Given the description of an element on the screen output the (x, y) to click on. 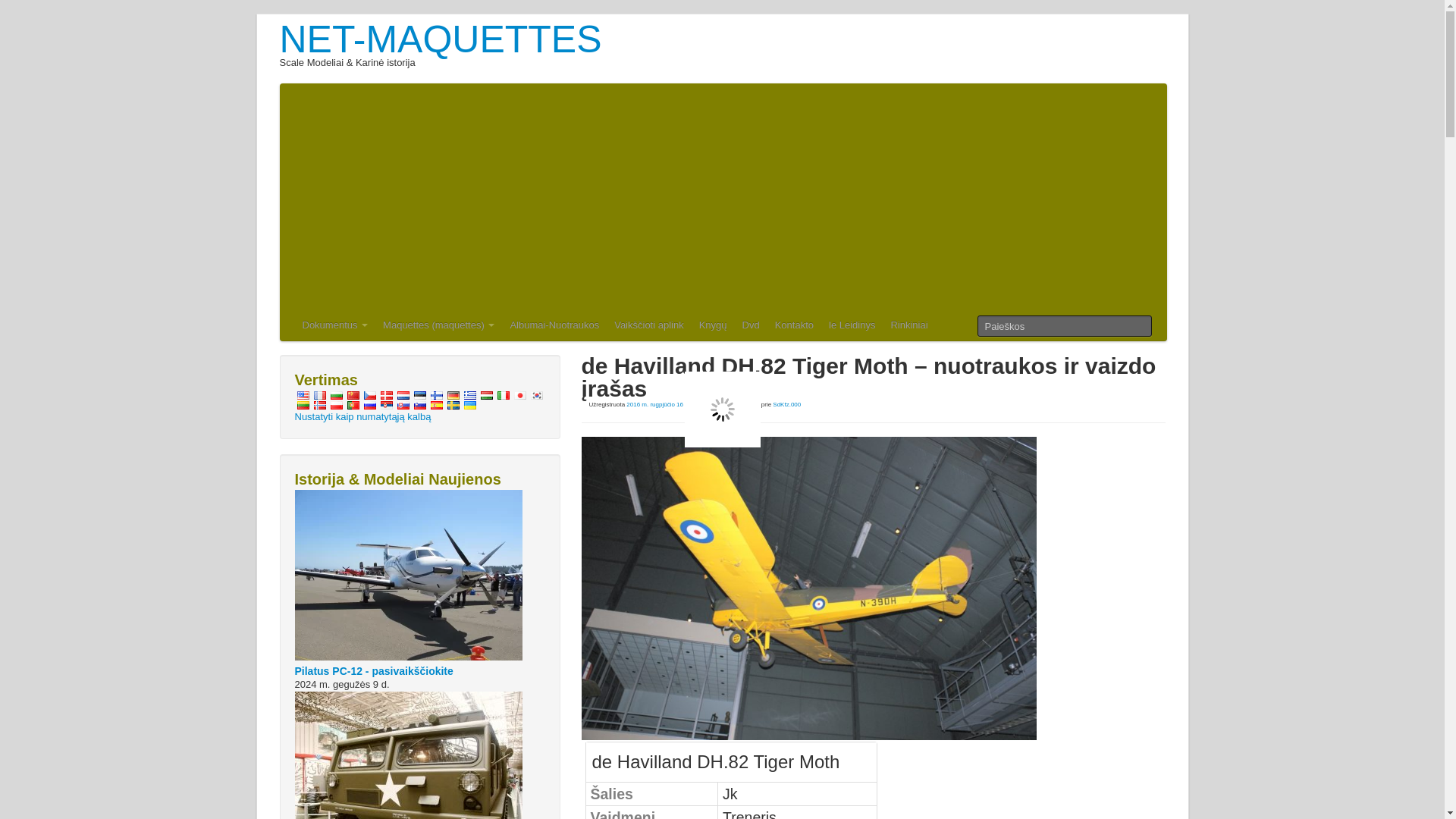
NET-MAQUETTES (440, 39)
Dokumentus (334, 325)
NET-MAQUETTES (440, 39)
10 val. 46 min. (658, 404)
